Given the description of an element on the screen output the (x, y) to click on. 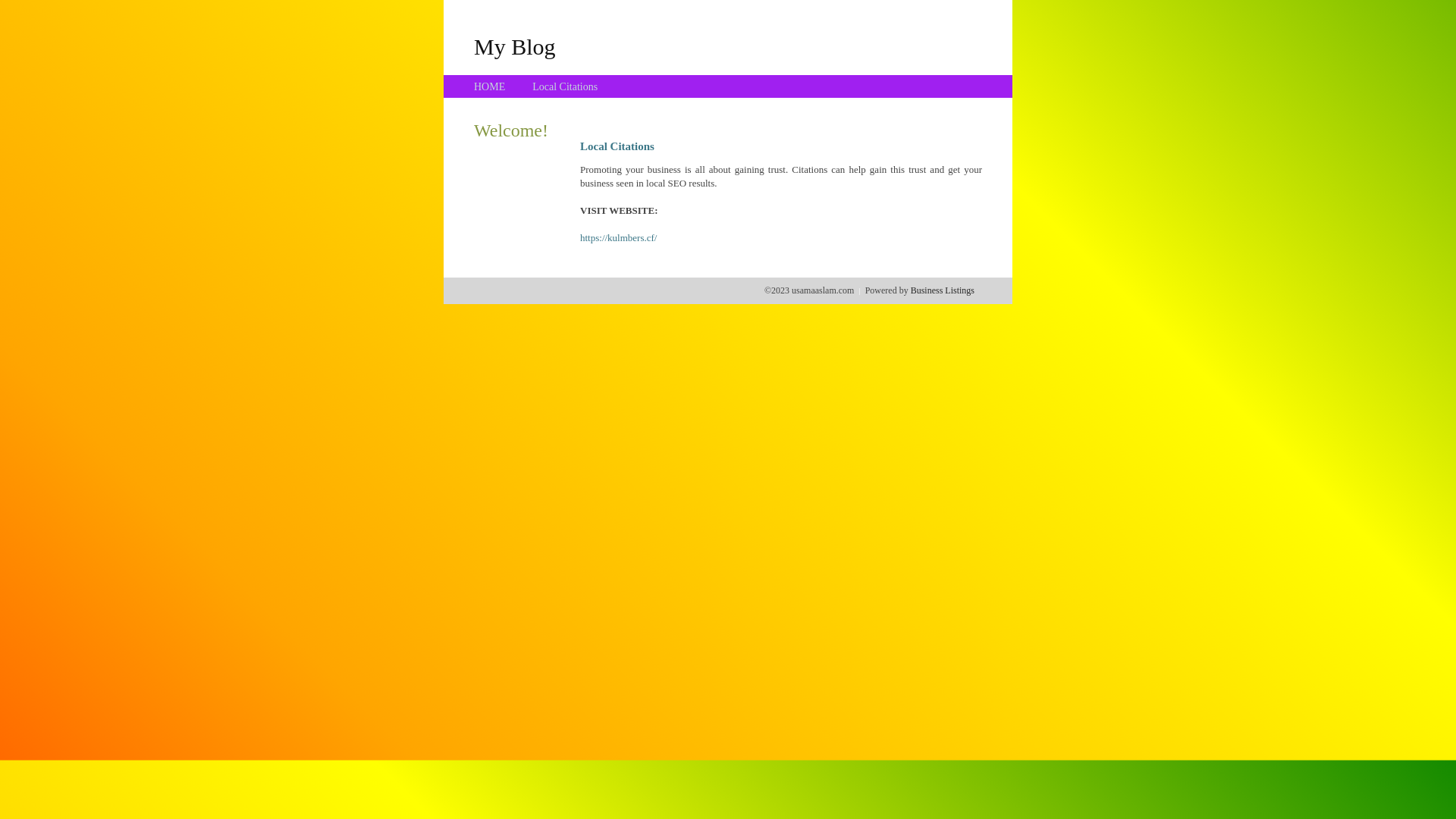
Local Citations Element type: text (564, 86)
My Blog Element type: text (514, 46)
Business Listings Element type: text (942, 290)
https://kulmbers.cf/ Element type: text (618, 237)
HOME Element type: text (489, 86)
